Given the description of an element on the screen output the (x, y) to click on. 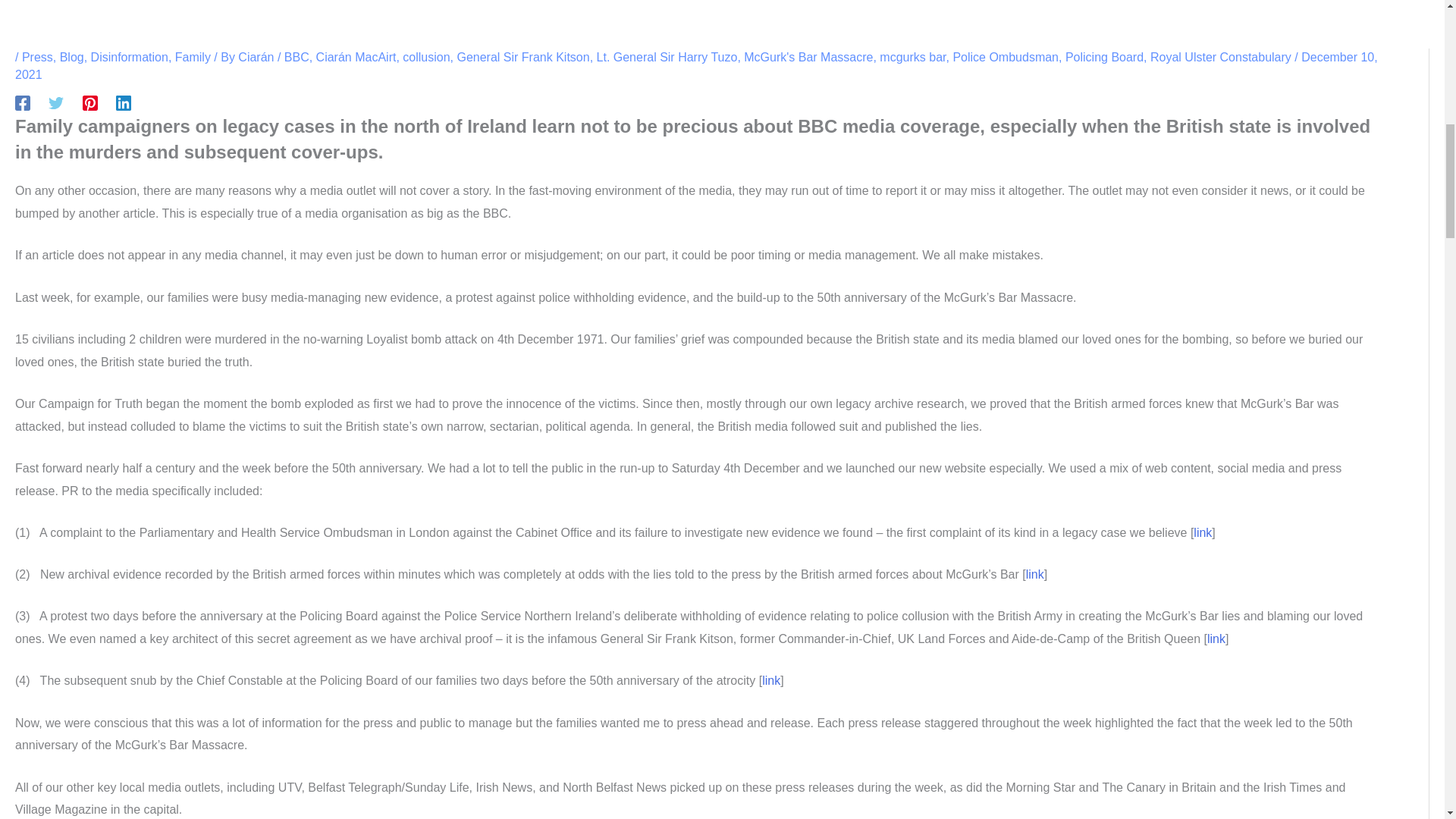
Press (36, 56)
Lt. General Sir Harry Tuzo (667, 56)
Blog (71, 56)
General Sir Frank Kitson (523, 56)
Disinformation (129, 56)
mcgurks bar (911, 56)
Police Ombudsman (1005, 56)
Policing Board (1103, 56)
BBC (295, 56)
collusion (426, 56)
Family (192, 56)
McGurk's Bar Massacre (808, 56)
Royal Ulster Constabulary (1220, 56)
